Given the description of an element on the screen output the (x, y) to click on. 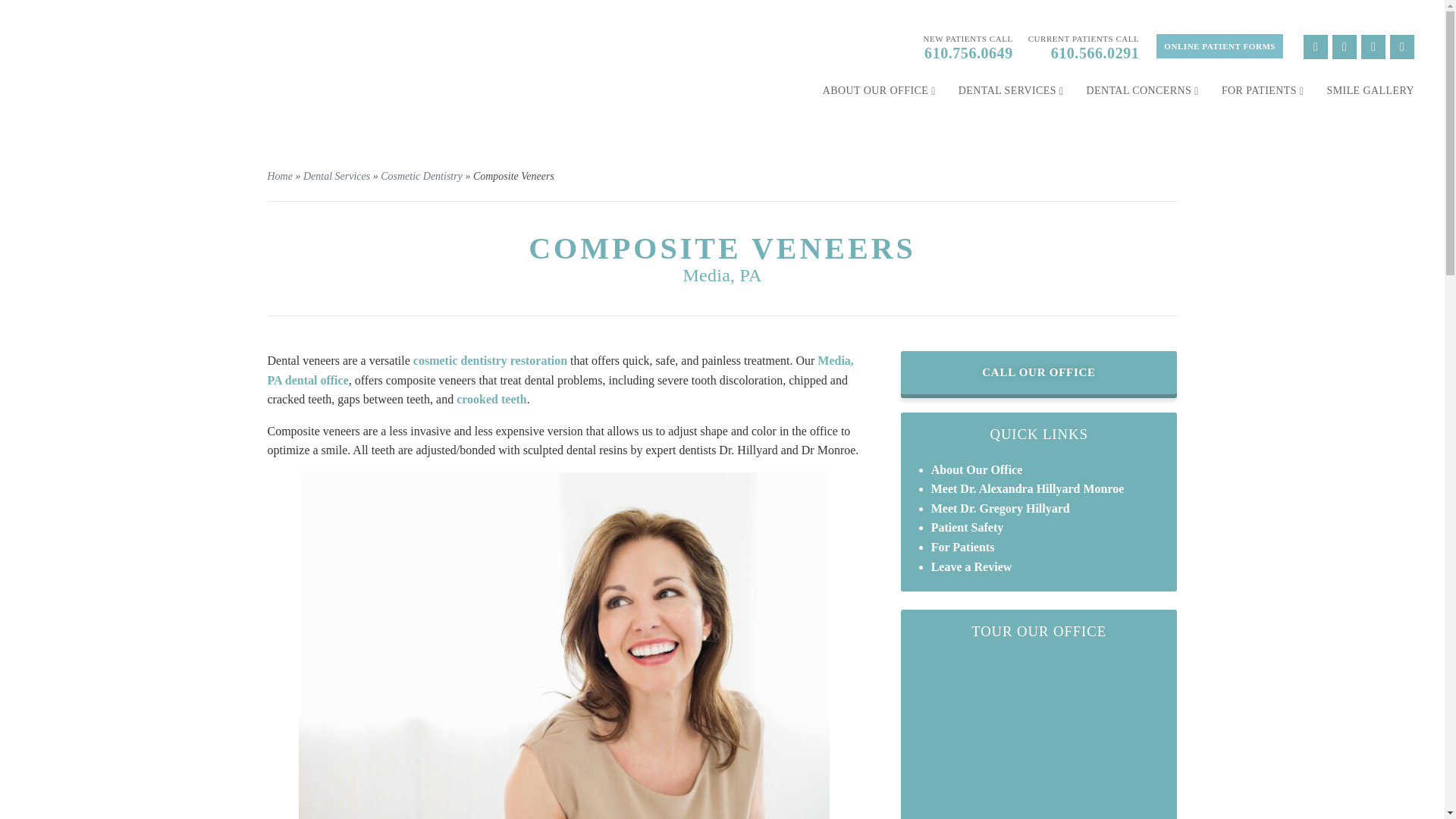
DENTAL CONCERNS (1142, 90)
ABOUT OUR OFFICE (879, 90)
DENTAL SERVICES (1011, 90)
ONLINE PATIENT FORMS (1219, 45)
